Given the description of an element on the screen output the (x, y) to click on. 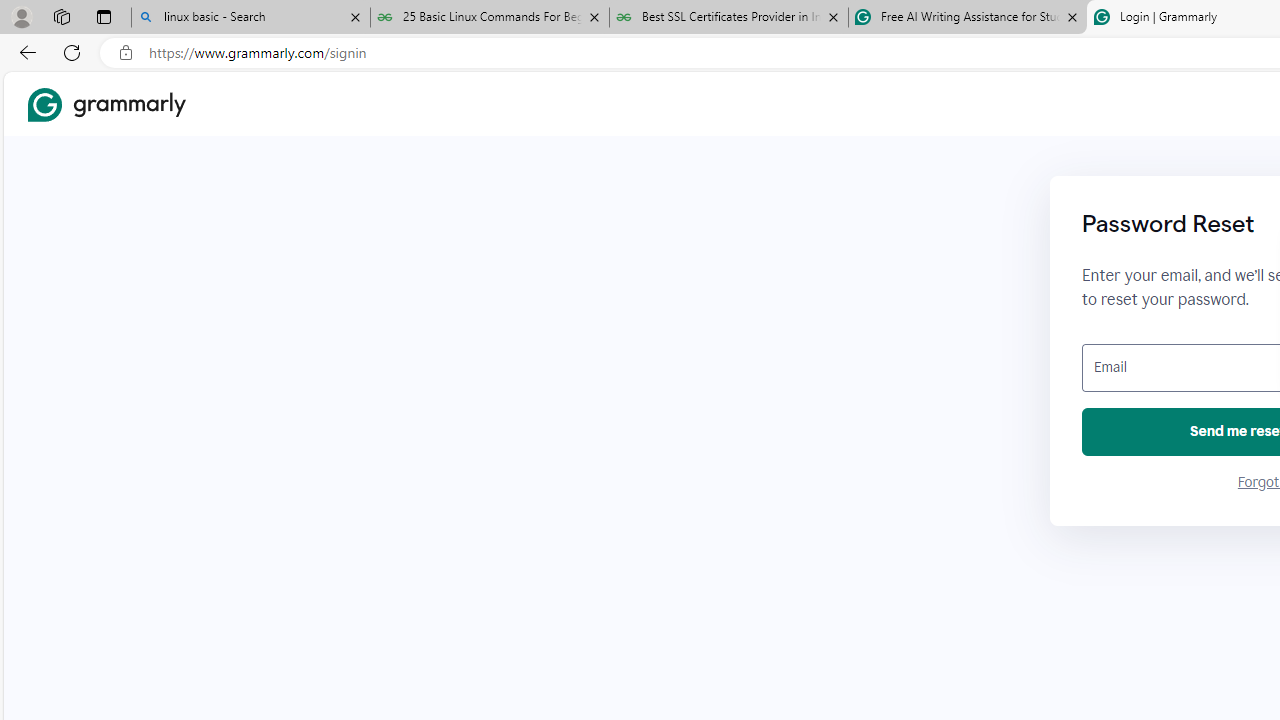
Grammarly Home (106, 104)
Grammarly Home (106, 103)
Free AI Writing Assistance for Students | Grammarly (967, 17)
25 Basic Linux Commands For Beginners - GeeksforGeeks (490, 17)
linux basic - Search (250, 17)
Best SSL Certificates Provider in India - GeeksforGeeks (729, 17)
